Given the description of an element on the screen output the (x, y) to click on. 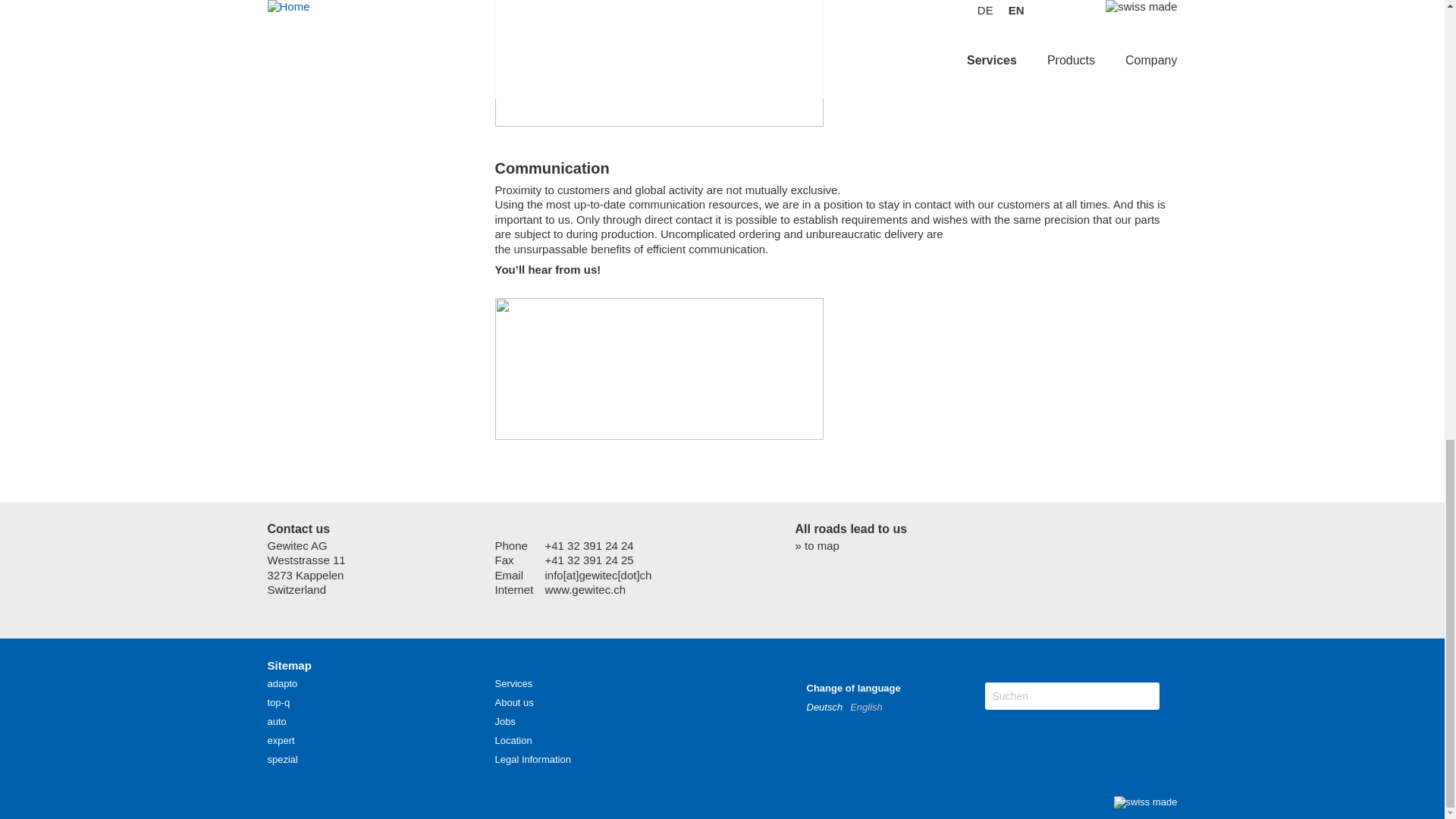
Deutsch (828, 706)
Jobs (505, 721)
Legal Information (532, 758)
Location (513, 740)
English (869, 706)
Suchen (1052, 696)
www.gewitec.ch (585, 589)
About us (513, 702)
auto (275, 721)
adapto (281, 683)
